Given the description of an element on the screen output the (x, y) to click on. 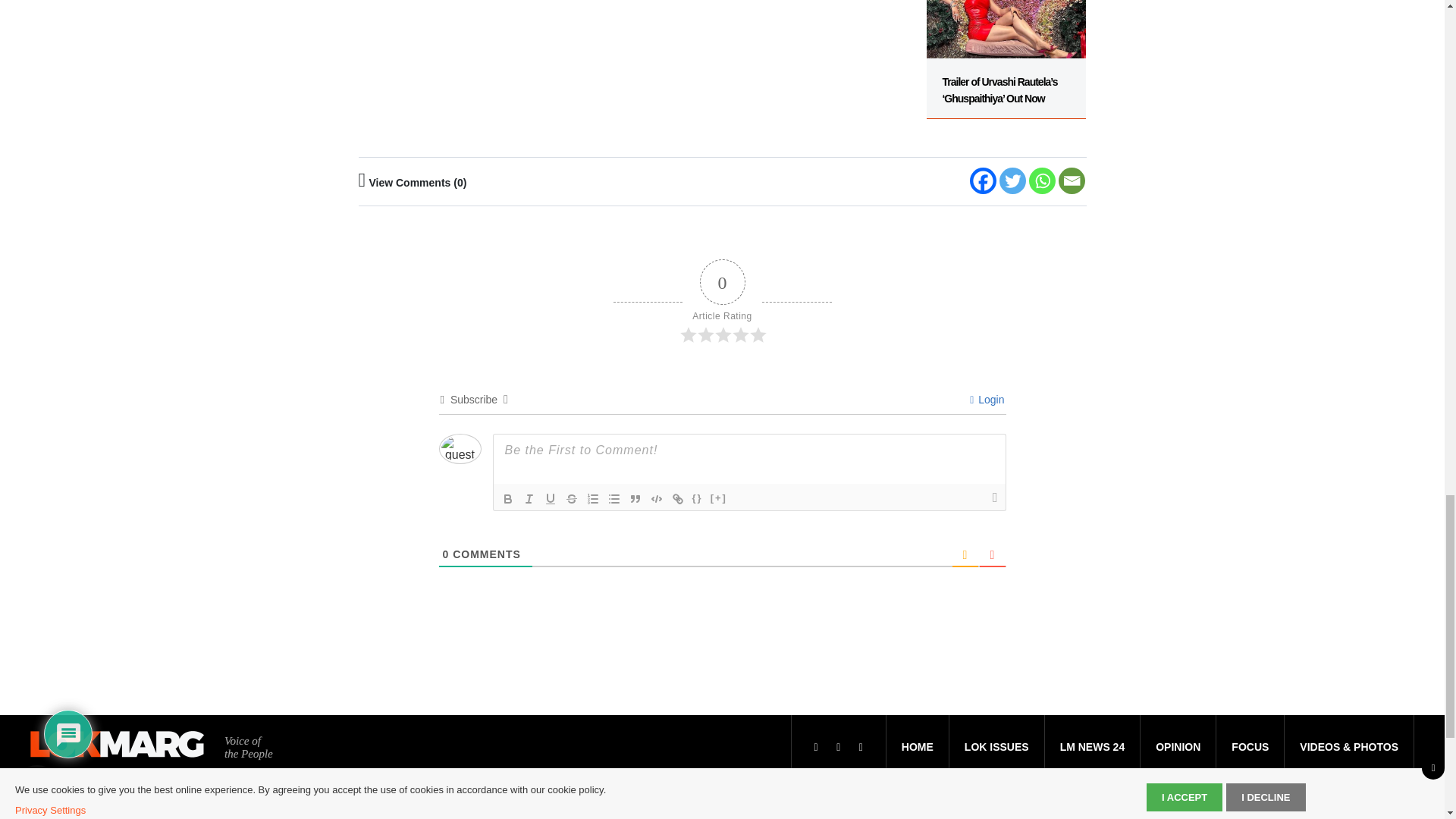
Login (986, 399)
